Given the description of an element on the screen output the (x, y) to click on. 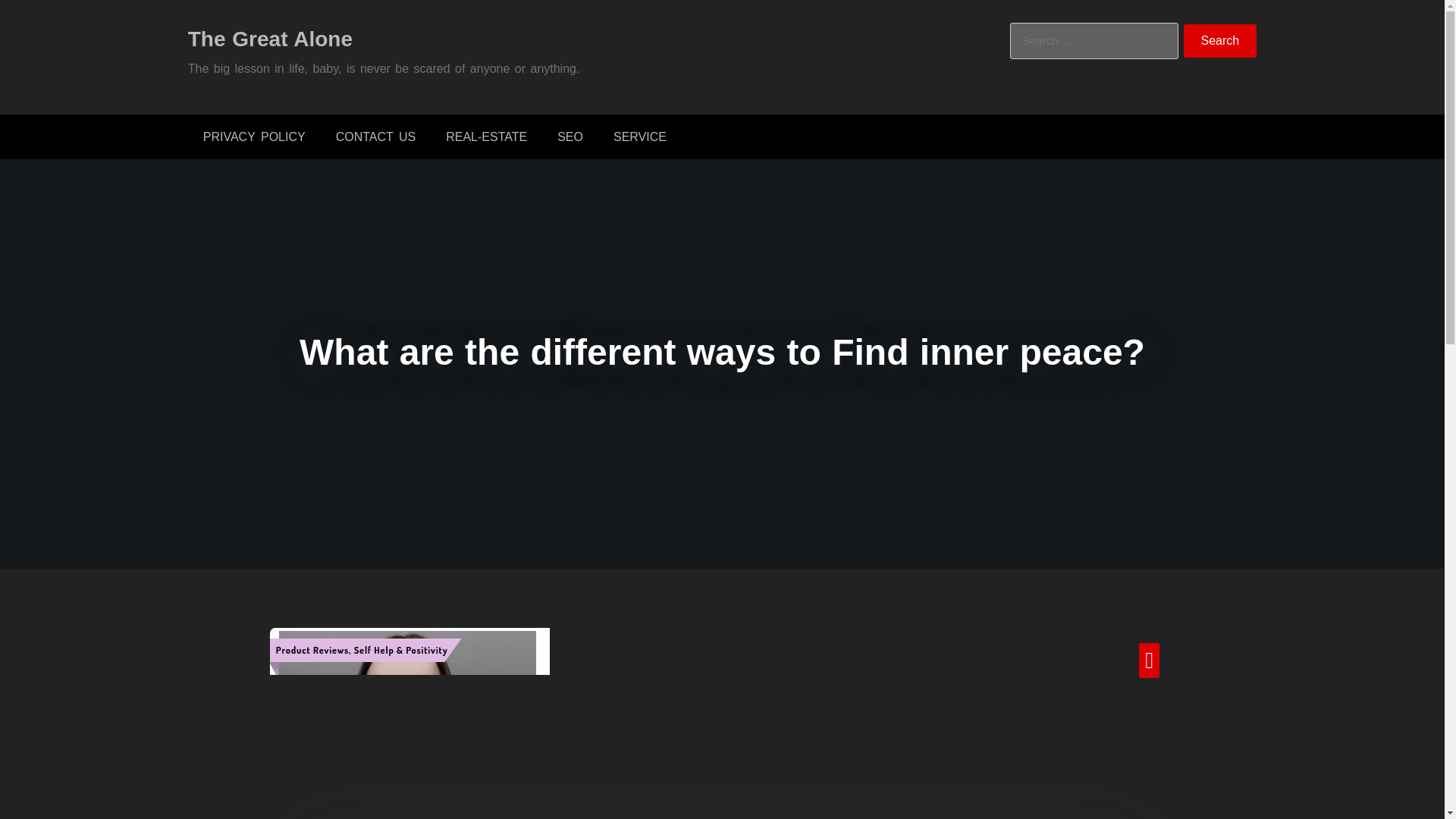
SEO (569, 136)
SERVICE (639, 136)
Search (1220, 40)
REAL-ESTATE (485, 136)
CONTACT US (375, 136)
The Great Alone (269, 38)
PRIVACY POLICY (253, 136)
Search (1220, 40)
Search (1220, 40)
